Given the description of an element on the screen output the (x, y) to click on. 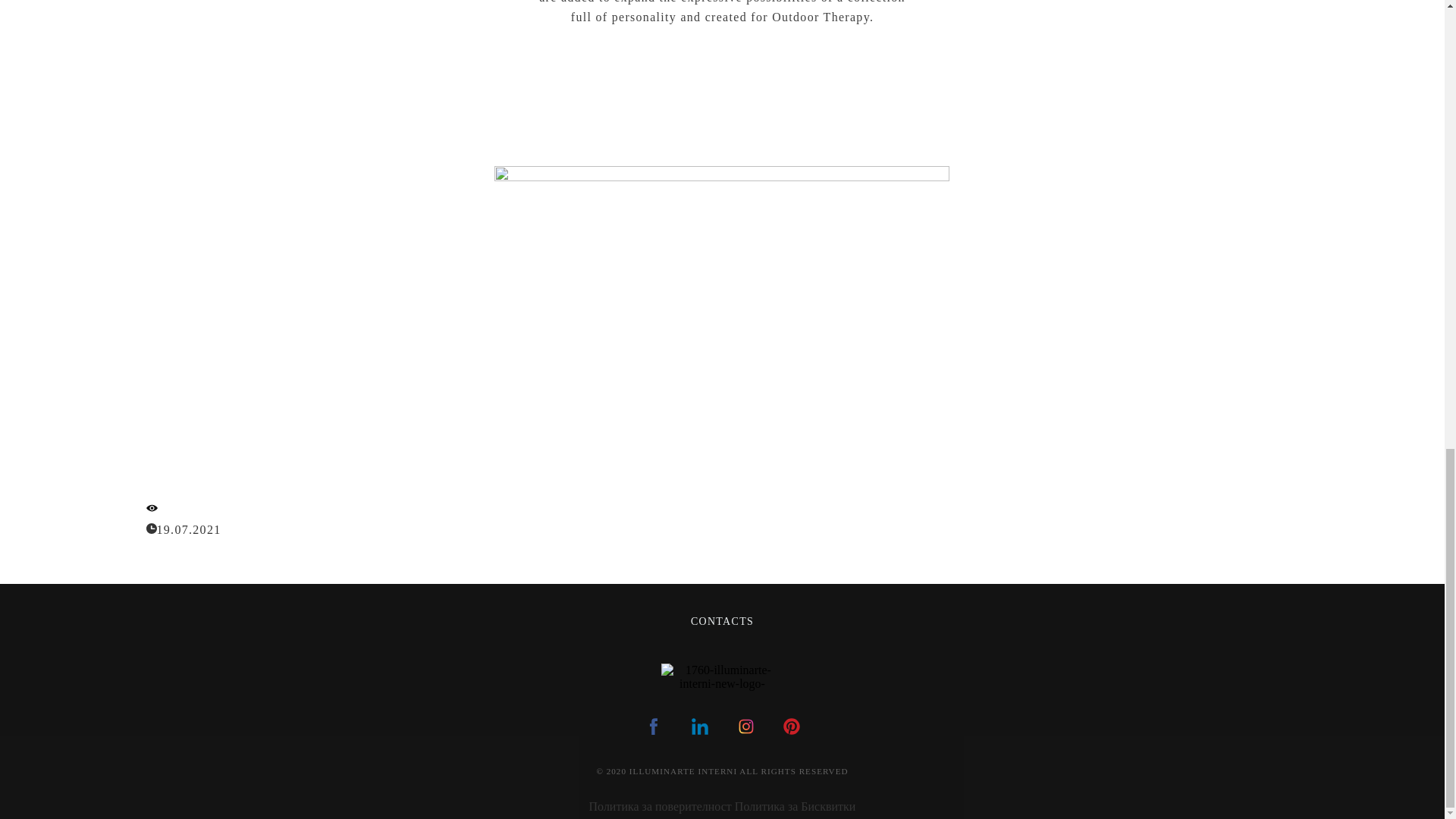
CONTACTS (722, 620)
